Given the description of an element on the screen output the (x, y) to click on. 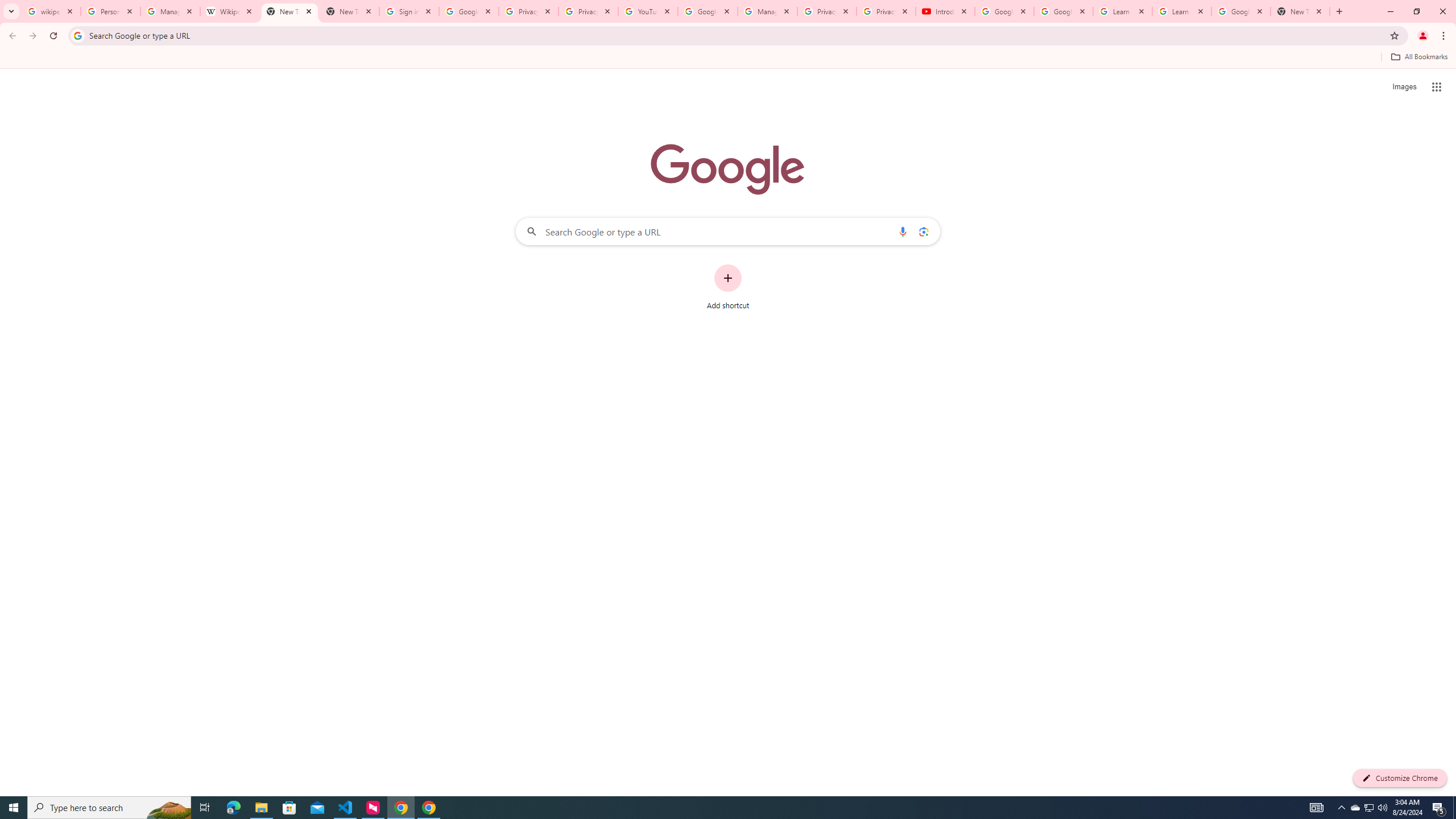
Manage your Location History - Google Search Help (170, 11)
